Given the description of an element on the screen output the (x, y) to click on. 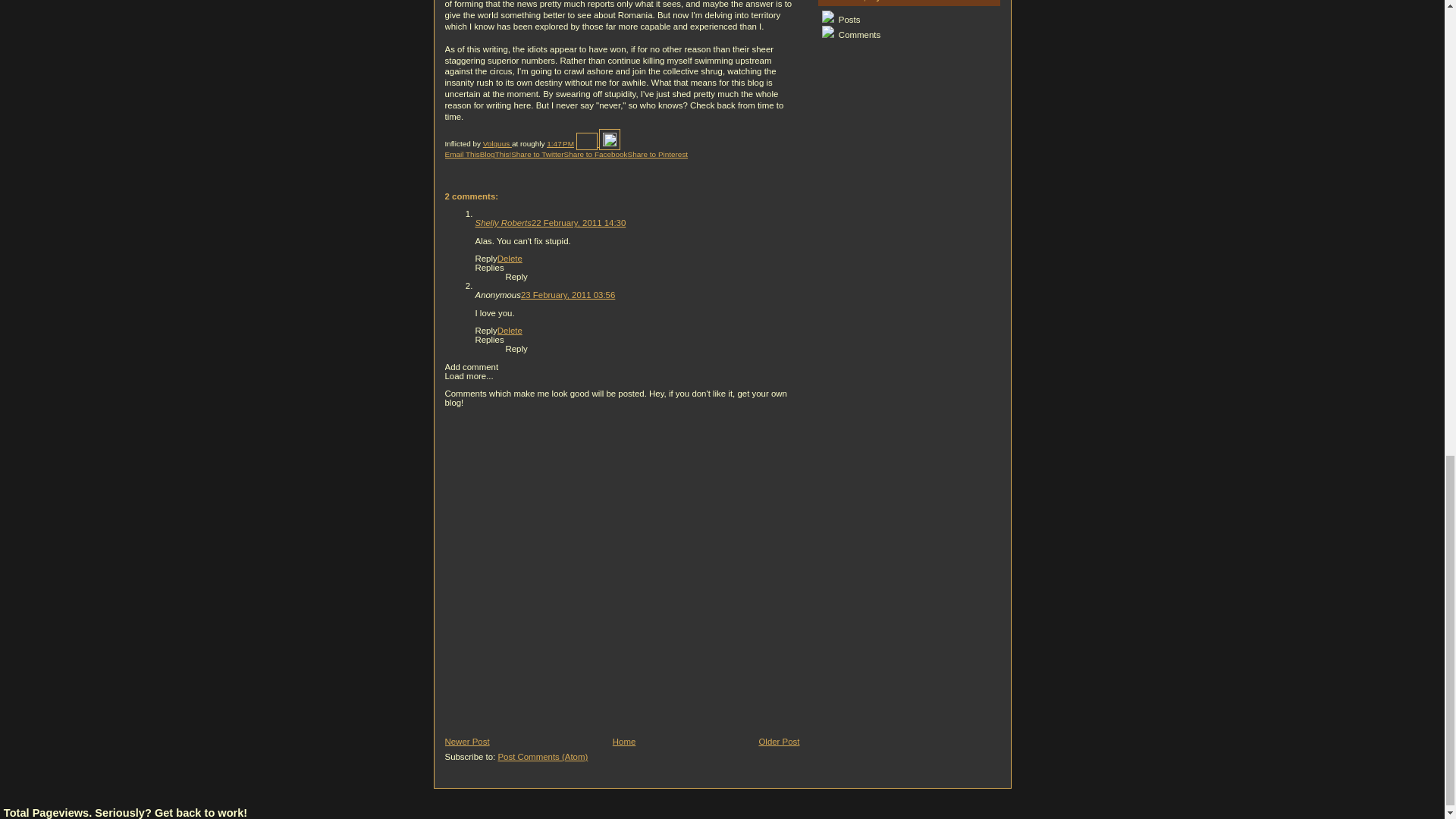
Share to Facebook (595, 153)
Share to Facebook (595, 153)
permanent link (560, 143)
Newer Post (466, 741)
Email This (461, 153)
23 February, 2011 03:56 (567, 294)
Volguus (497, 143)
Share to Pinterest (657, 153)
Older Post (778, 741)
Delete (509, 329)
22 February, 2011 14:30 (578, 222)
Email This (461, 153)
Delete (509, 257)
Newer Post (466, 741)
